Given the description of an element on the screen output the (x, y) to click on. 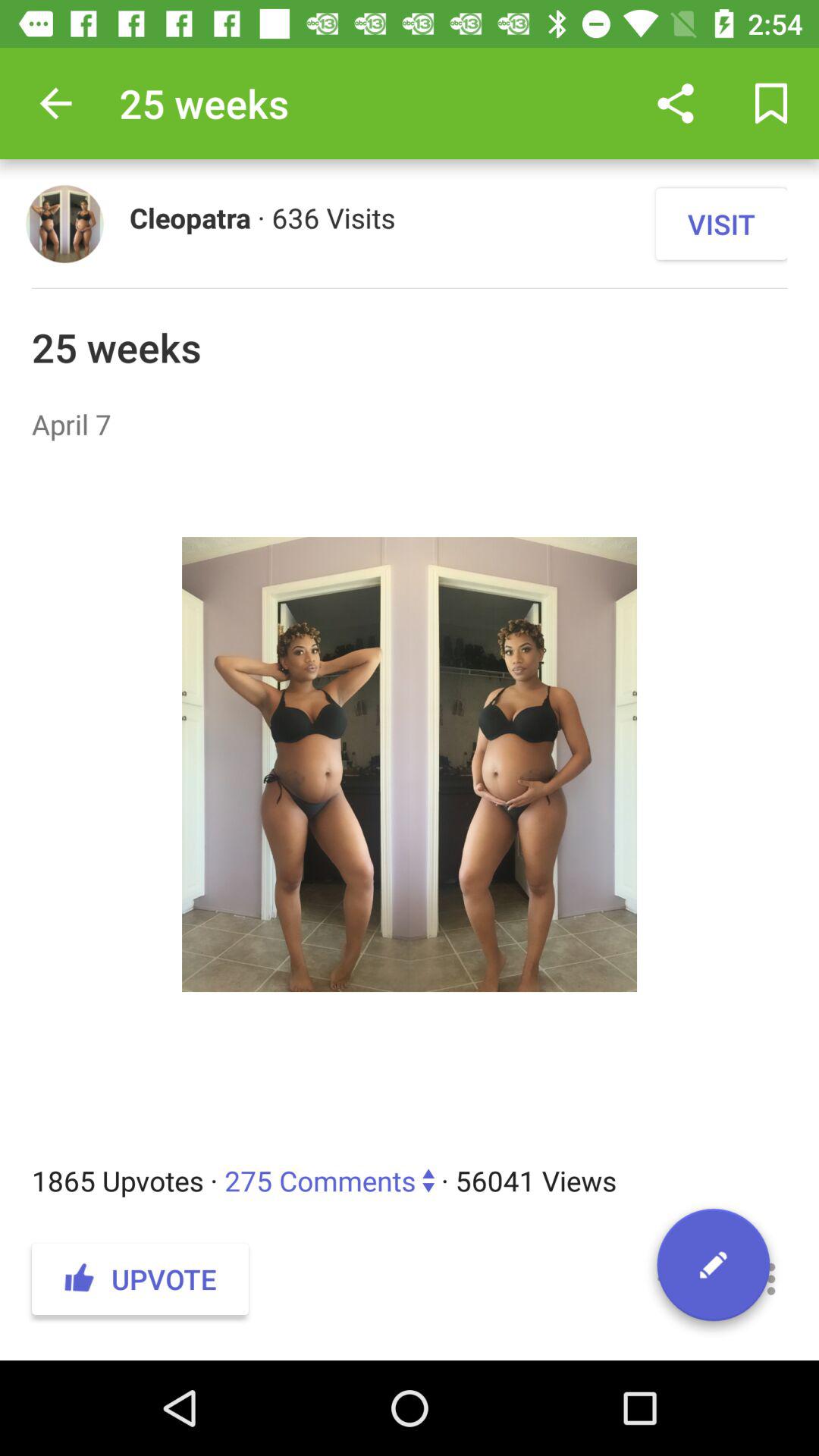
launch the item below 1865 upvotes 275 (771, 1278)
